Given the description of an element on the screen output the (x, y) to click on. 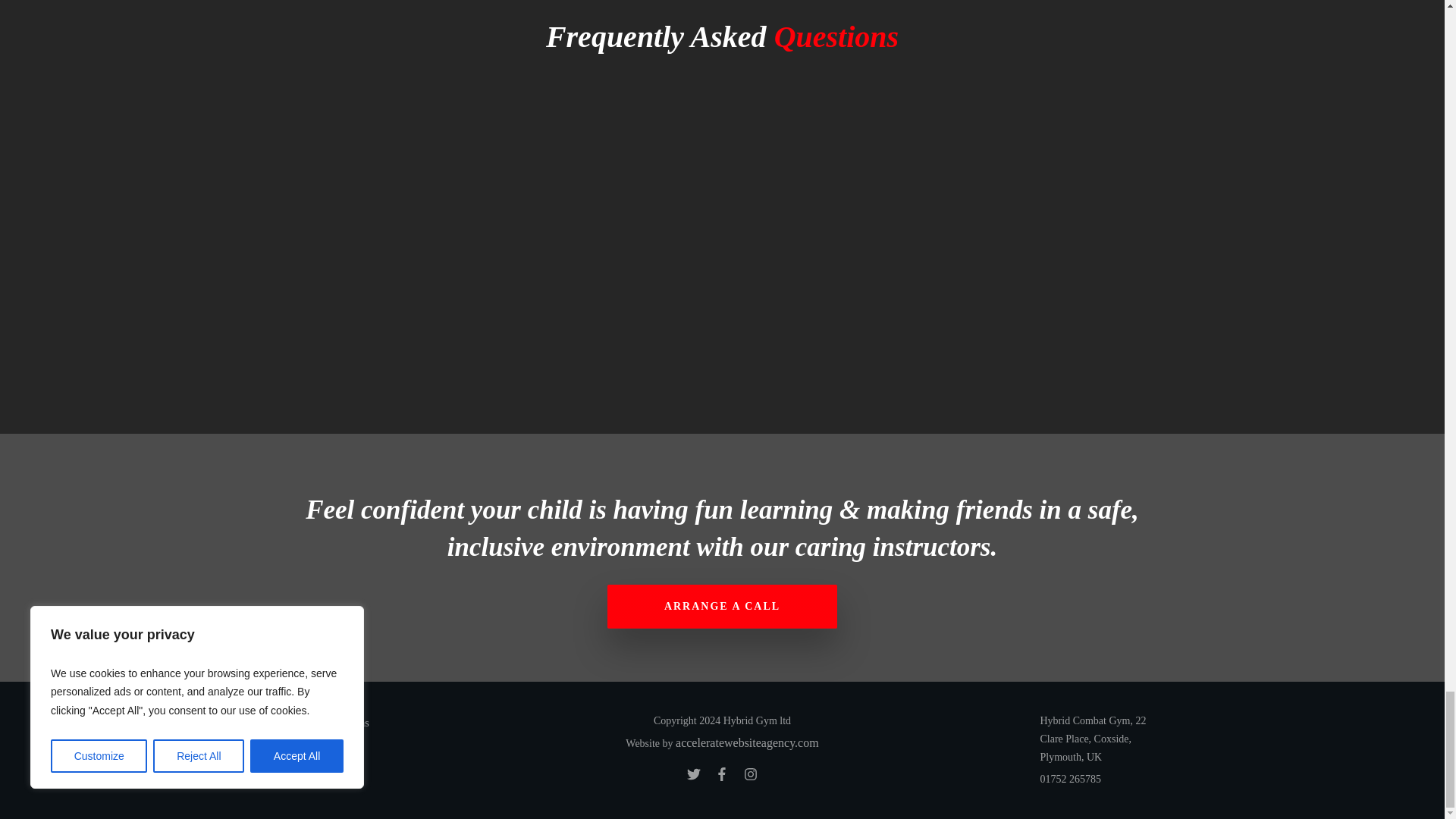
ARRANGE A CALL (722, 606)
Privacy Policy (312, 745)
acceleratewebsiteagency.com (746, 742)
